Given the description of an element on the screen output the (x, y) to click on. 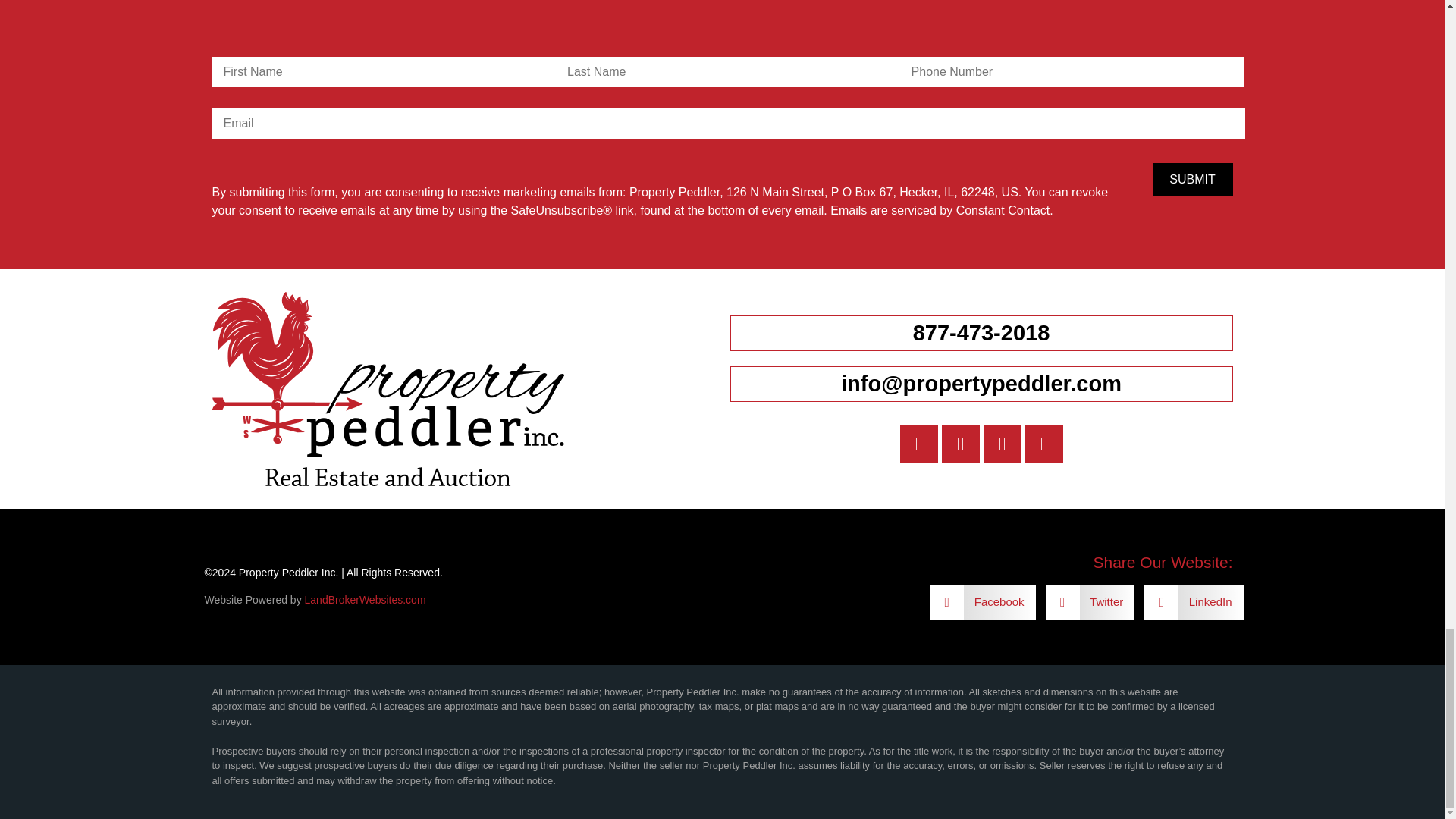
Submit (1193, 179)
